Given the description of an element on the screen output the (x, y) to click on. 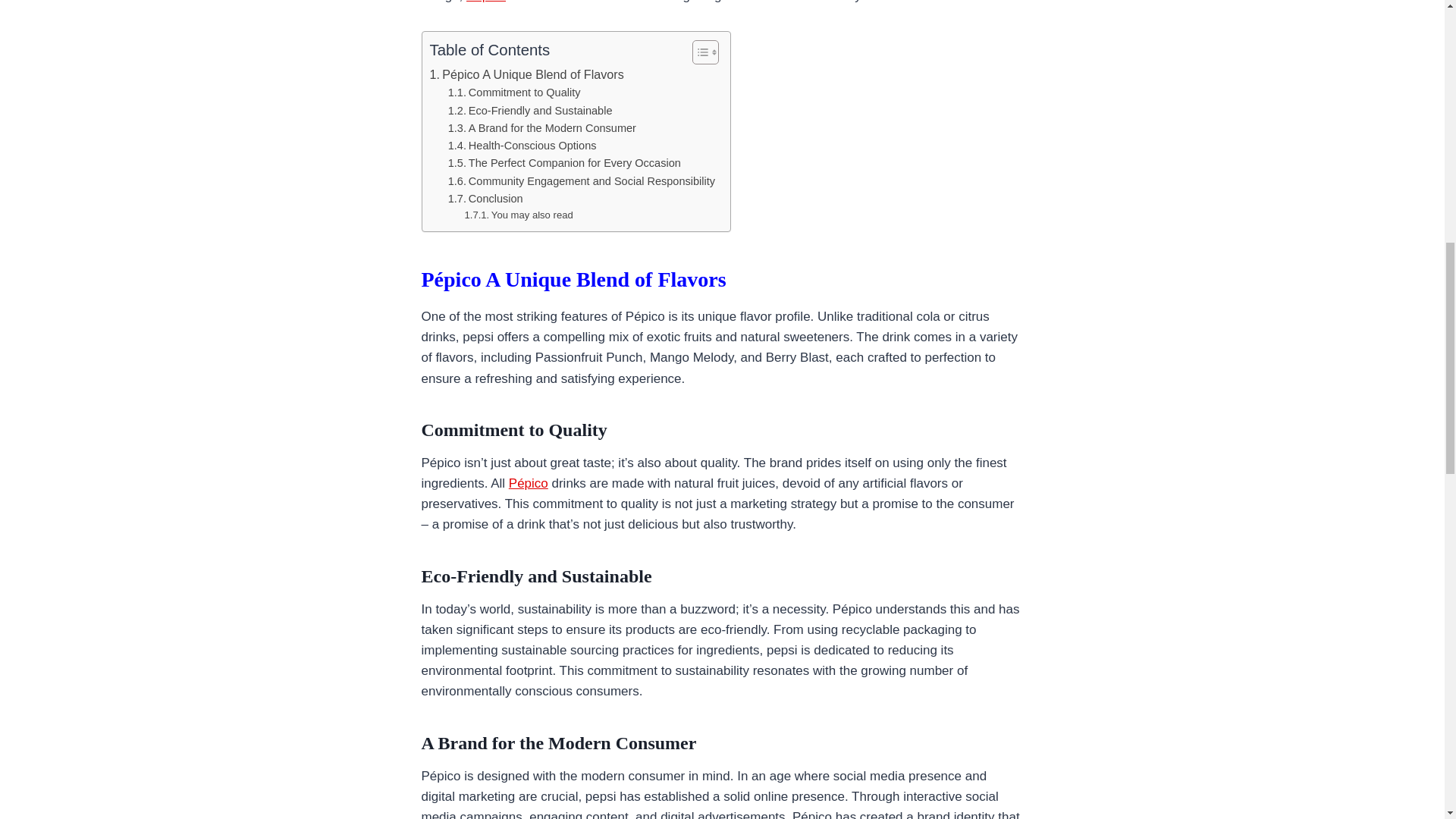
Conclusion (485, 199)
Commitment to Quality (514, 92)
A Brand for the Modern Consumer (542, 128)
Community Engagement and Social Responsibility (581, 181)
Eco-Friendly and Sustainable (530, 110)
Conclusion (485, 199)
The Perfect Companion for Every Occasion (564, 162)
The Perfect Companion for Every Occasion (564, 162)
You may also read (518, 215)
A Brand for the Modern Consumer (542, 128)
